Given the description of an element on the screen output the (x, y) to click on. 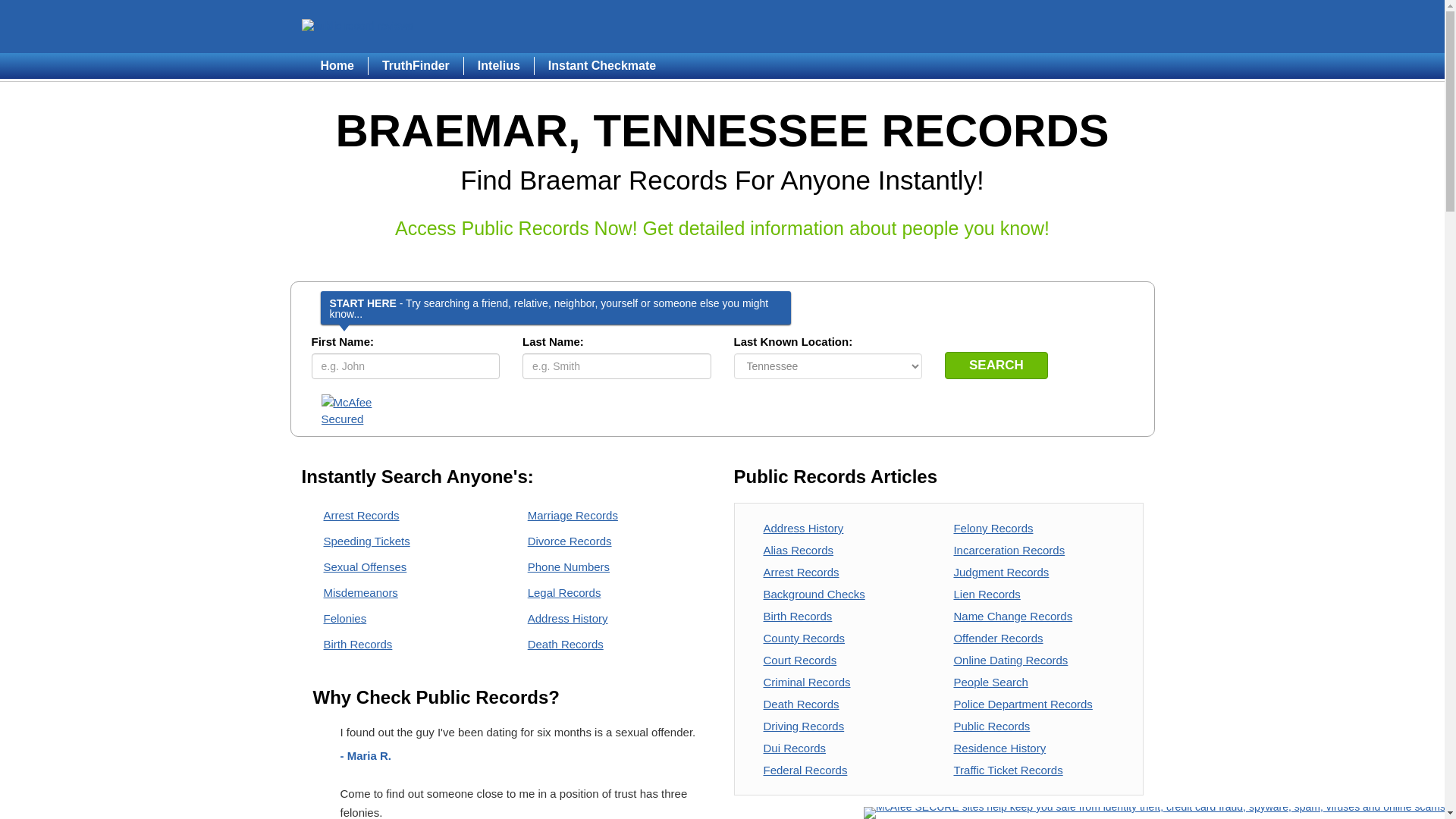
Felonies (344, 617)
Arrest Records (360, 514)
Court Records (798, 659)
County Records (803, 637)
Police Department Records (1022, 703)
Incarceration Records (1008, 549)
Address History (802, 527)
Instant Checkmate (601, 65)
Offender Records (997, 637)
Death Records (565, 644)
